Given the description of an element on the screen output the (x, y) to click on. 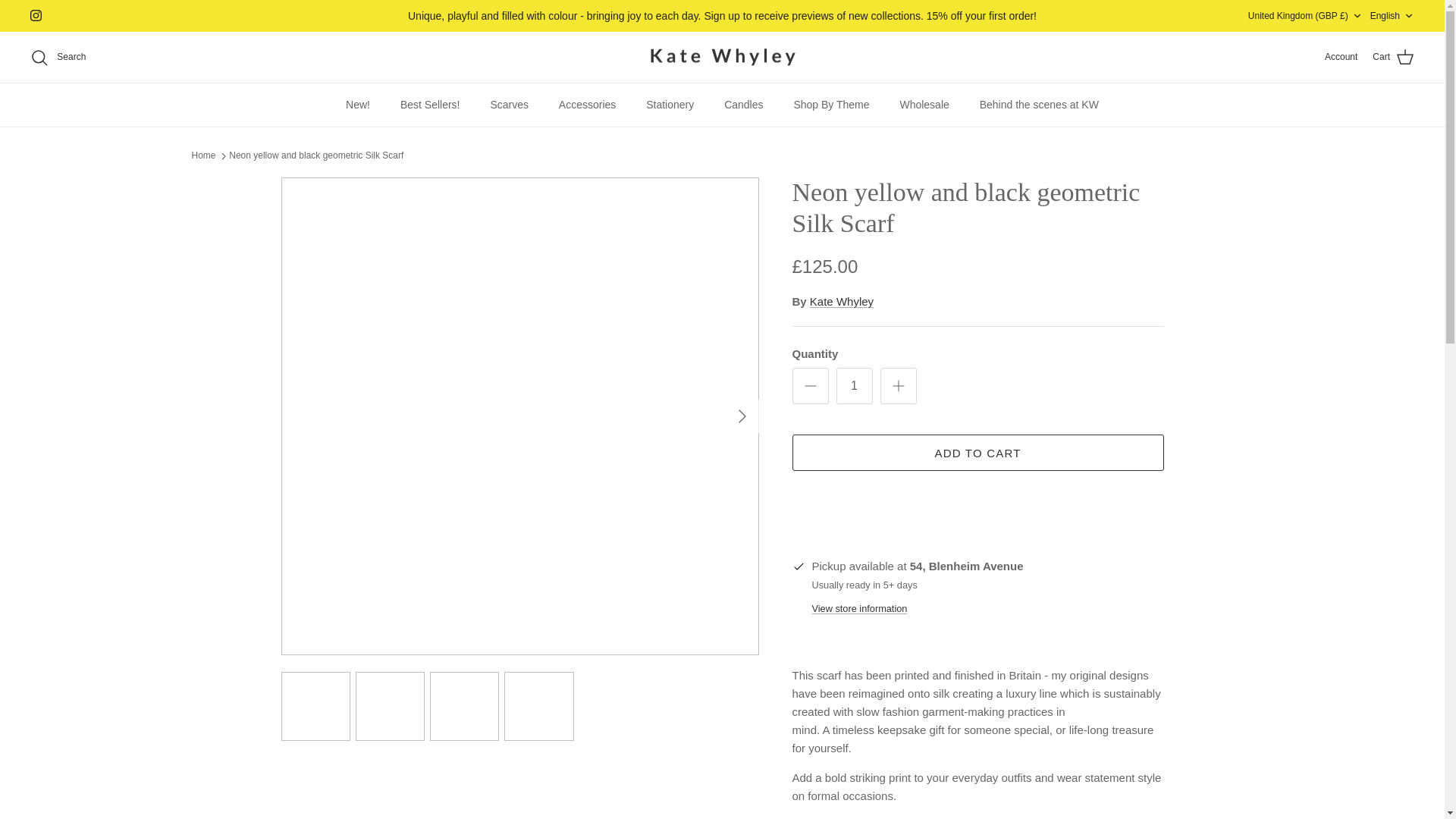
Instagram (36, 15)
Minus (809, 385)
RIGHT (741, 416)
Kate Whyley (721, 56)
Down (1408, 15)
Down (1357, 15)
Plus (897, 385)
Instagram (36, 15)
1 (853, 385)
